Given the description of an element on the screen output the (x, y) to click on. 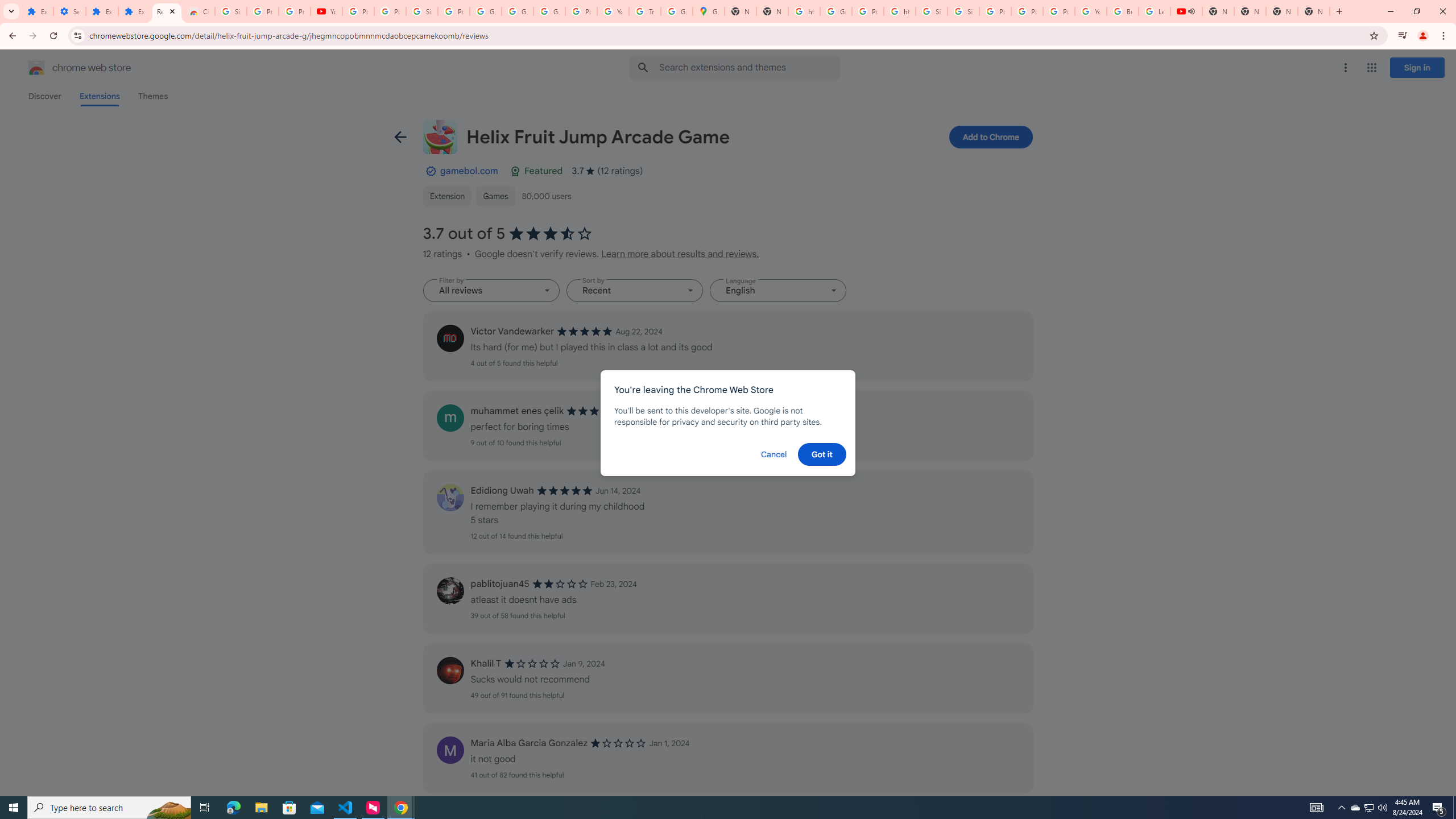
https://scholar.google.com/ (899, 11)
Cancel (773, 454)
YouTube (613, 11)
Google Maps (708, 11)
YouTube (1091, 11)
Sign in - Google Accounts (963, 11)
Extensions (134, 11)
